Given the description of an element on the screen output the (x, y) to click on. 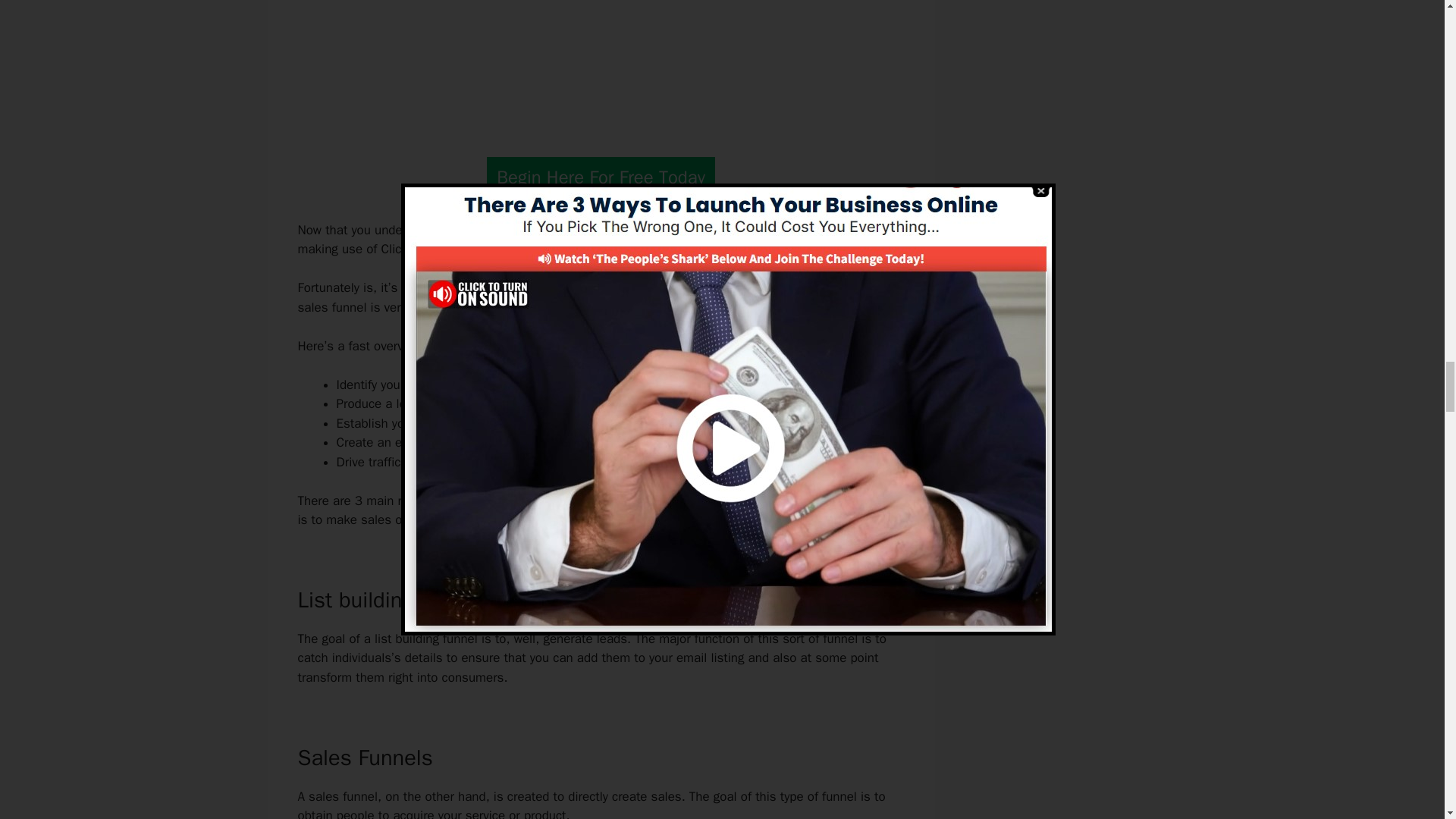
Begin Here For Free Today (600, 178)
YouTube video player (596, 64)
